Given the description of an element on the screen output the (x, y) to click on. 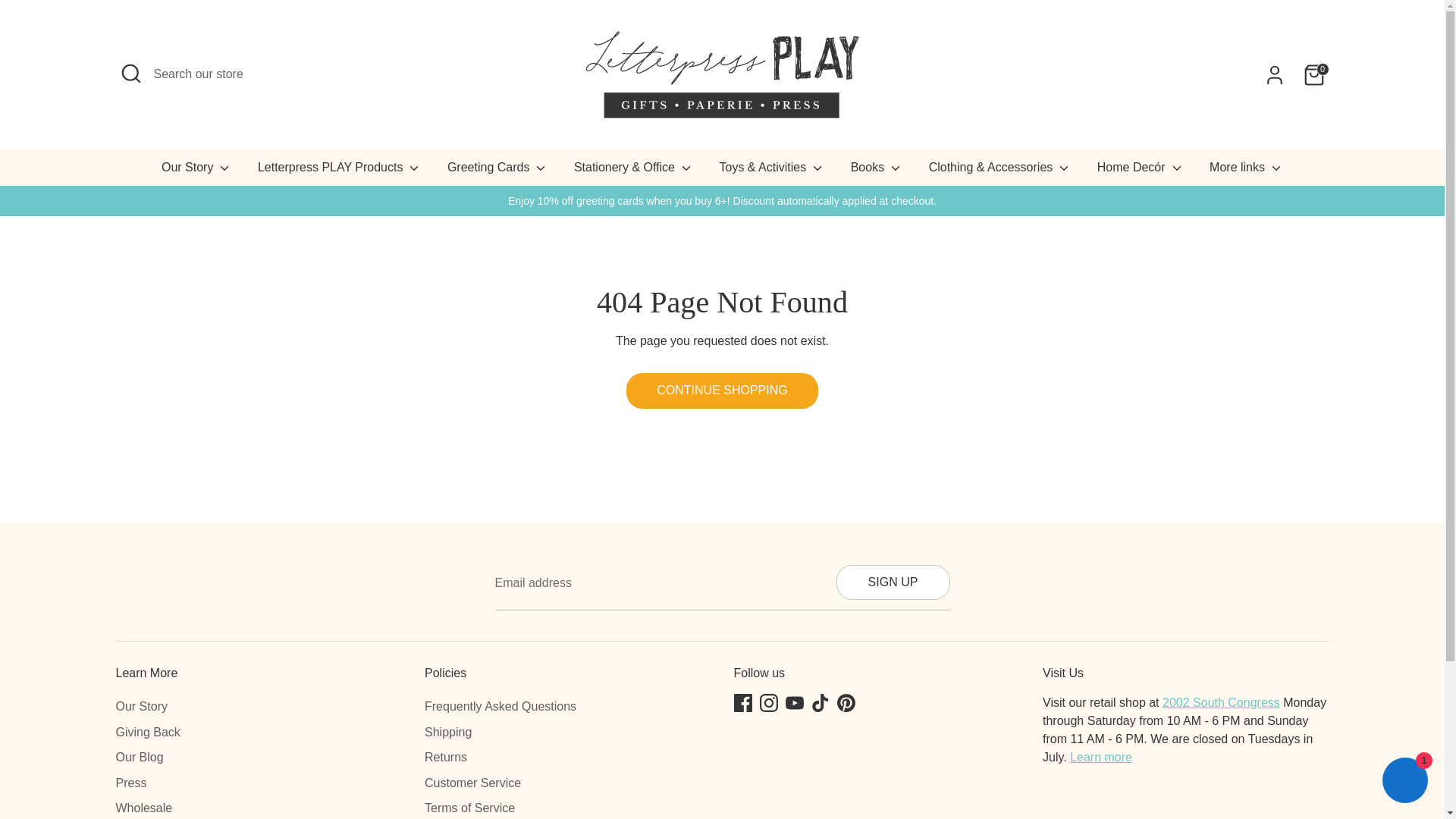
Visit Us (1101, 757)
0 (1312, 73)
Shopify online store chat (1404, 781)
